Given the description of an element on the screen output the (x, y) to click on. 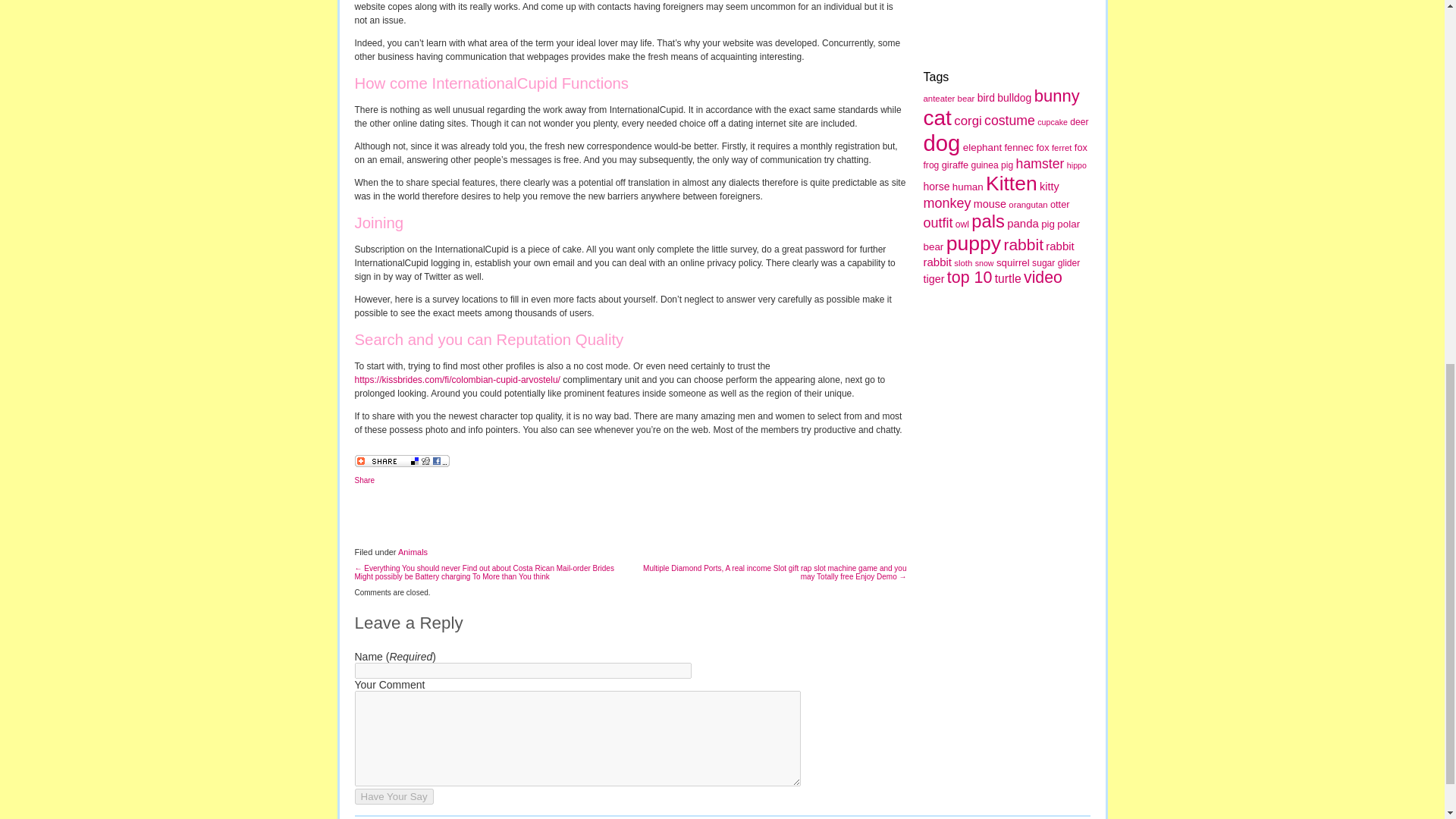
bear (966, 98)
giraffe (955, 164)
bulldog (1013, 97)
cat (937, 117)
fox (1080, 147)
dog (941, 142)
cupcake (1051, 121)
fennec fox (1026, 147)
costume (1009, 120)
guinea pig (992, 164)
elephant (981, 147)
Share (365, 479)
Have Your Say (394, 796)
bird (985, 97)
frog (931, 164)
